Given the description of an element on the screen output the (x, y) to click on. 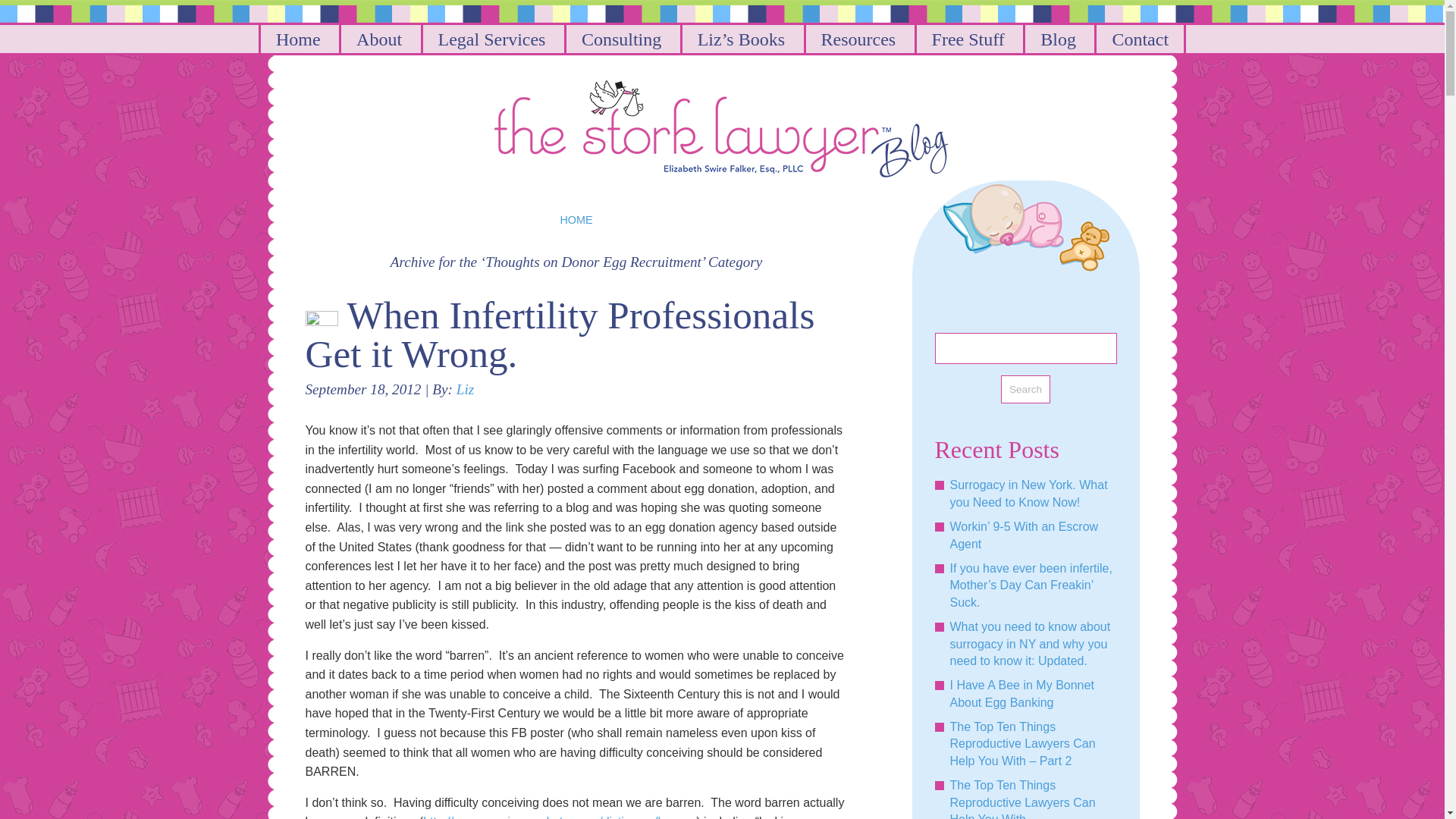
Permanent Link (558, 334)
HOME (575, 219)
About (377, 38)
Legal Services (490, 38)
Blog (1056, 38)
Posts by Liz (465, 389)
When Infertility Professionals Get it Wrong. (558, 334)
Resources (857, 38)
Search (1025, 389)
Consulting (620, 38)
